Given the description of an element on the screen output the (x, y) to click on. 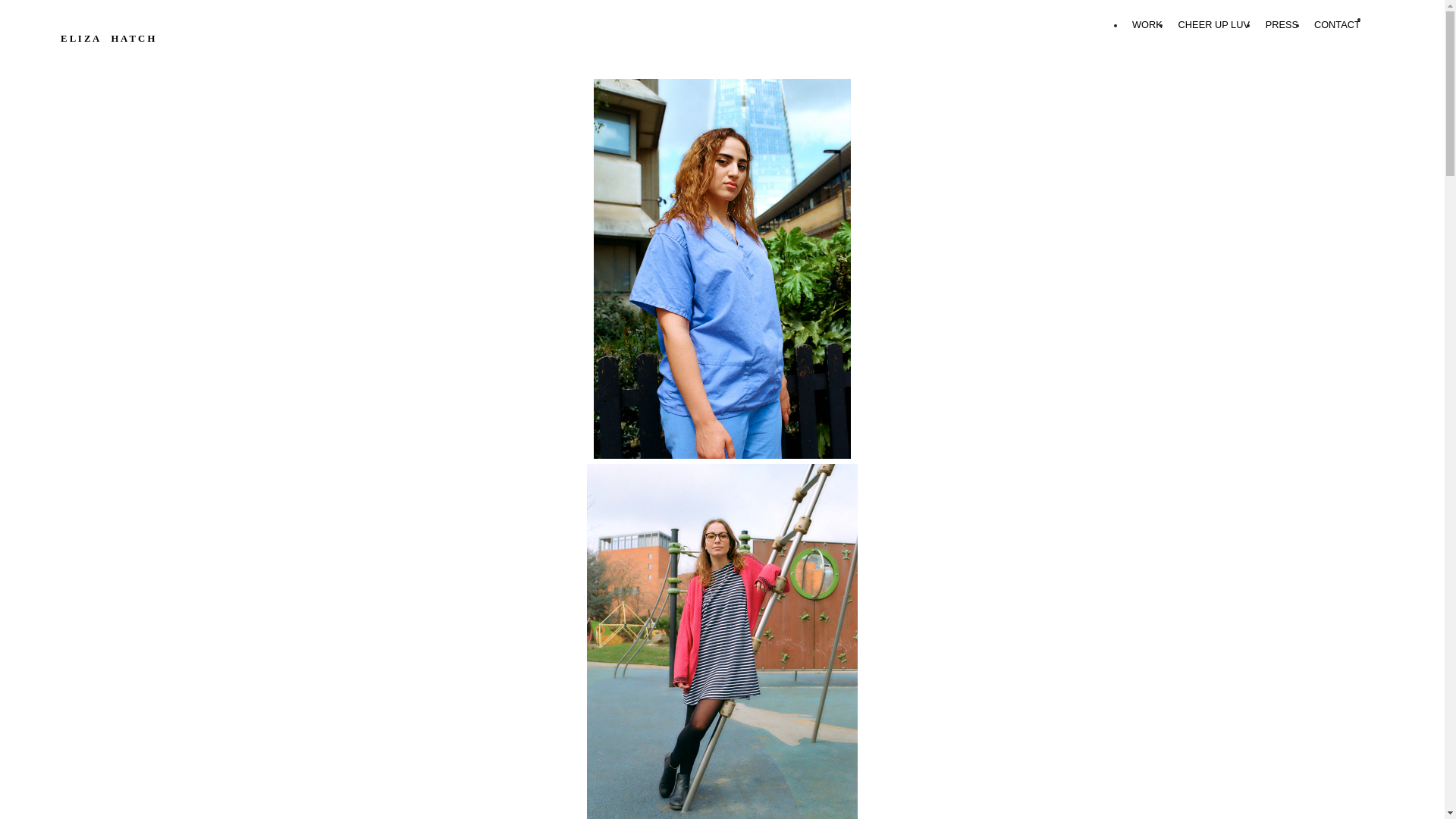
CHEER UP LUV (1213, 25)
PRESS (1281, 25)
E L I Z A     H A T C H   (122, 38)
CONTACT (1336, 25)
WORK (1146, 25)
